Given the description of an element on the screen output the (x, y) to click on. 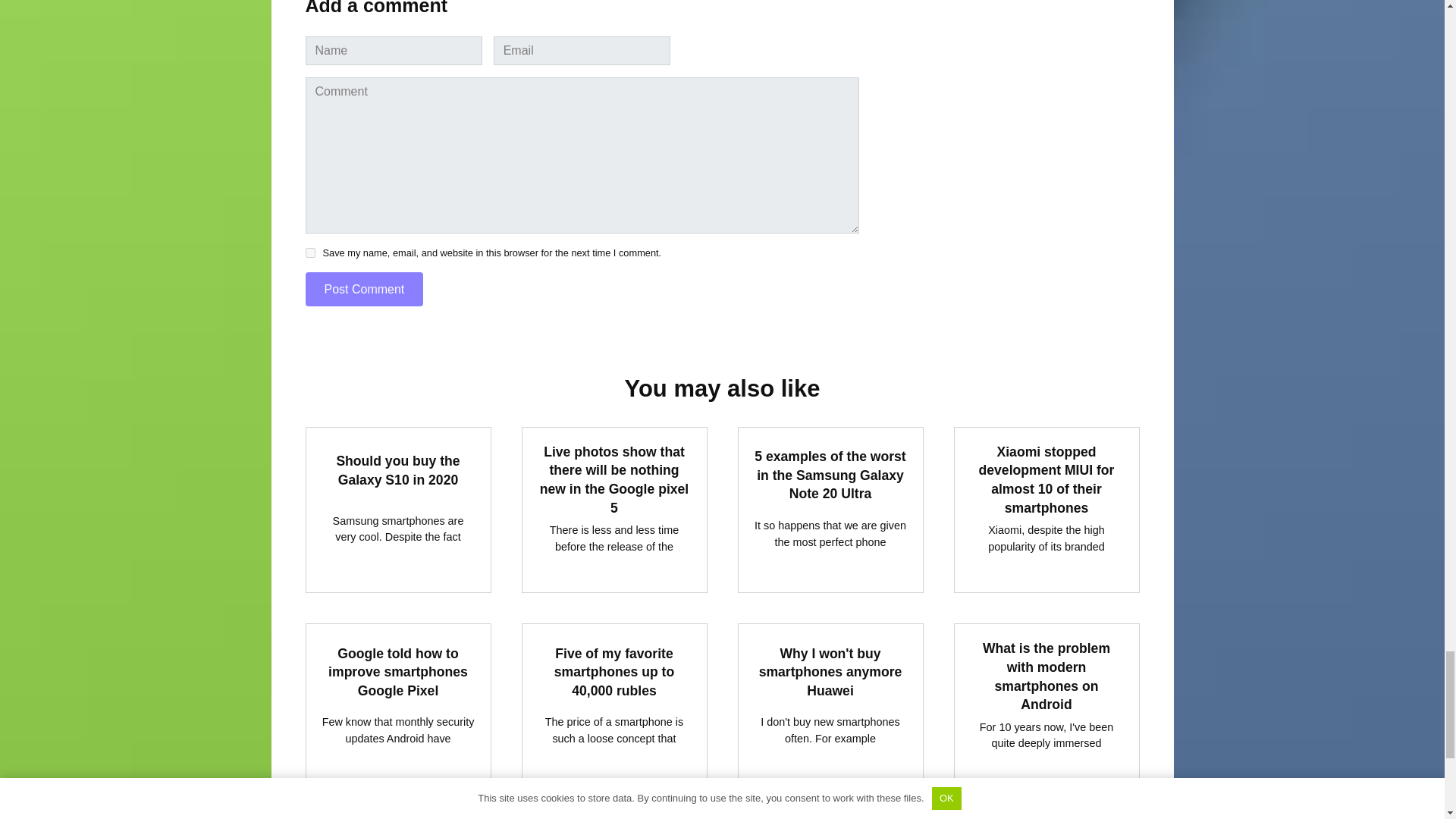
Post Comment (363, 288)
Post Comment (363, 288)
yes (309, 252)
